Given the description of an element on the screen output the (x, y) to click on. 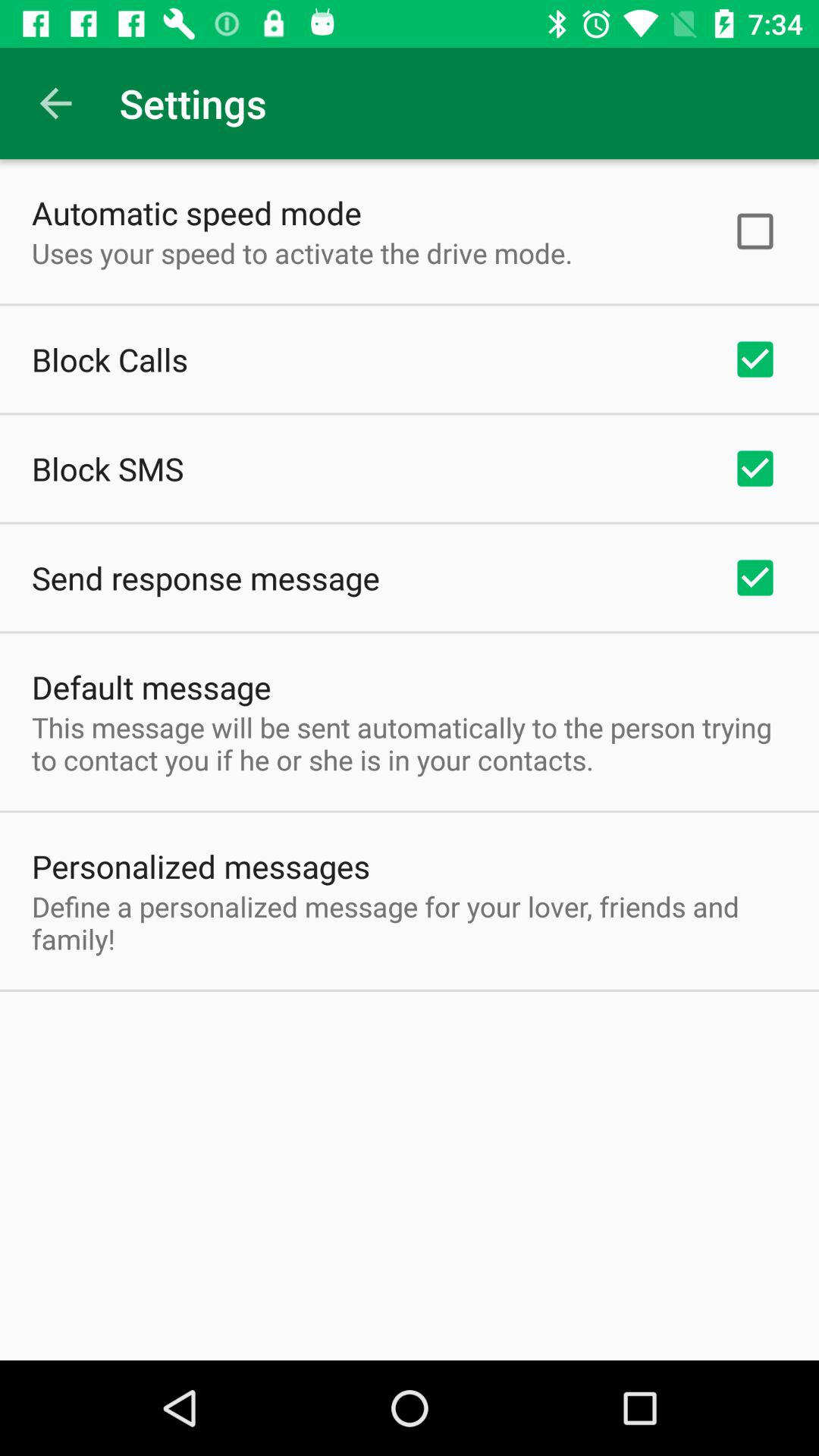
select item to the left of the settings app (55, 103)
